Given the description of an element on the screen output the (x, y) to click on. 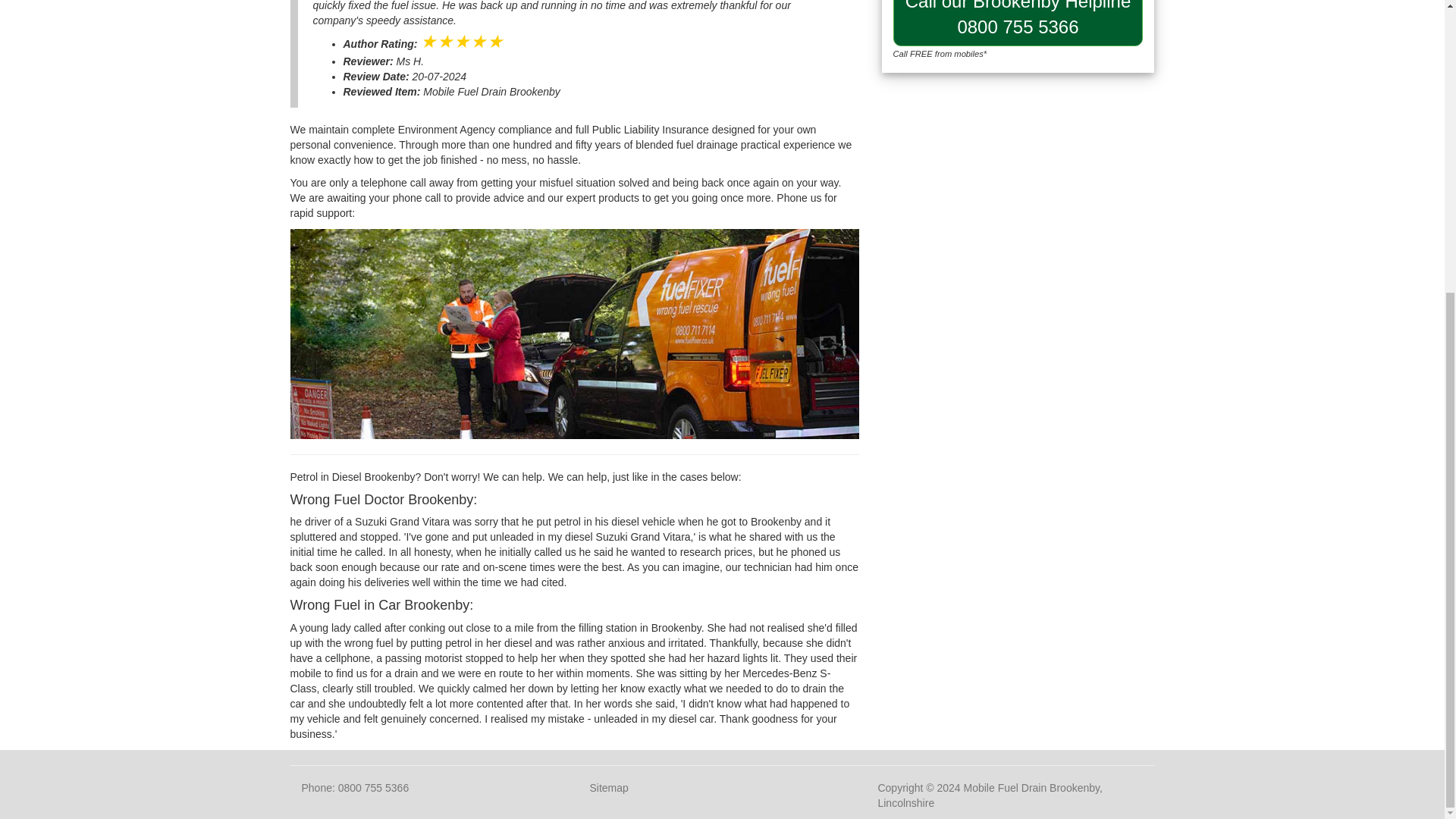
Sitemap (608, 787)
Phone: 0800 755 5366 (1017, 22)
